Given the description of an element on the screen output the (x, y) to click on. 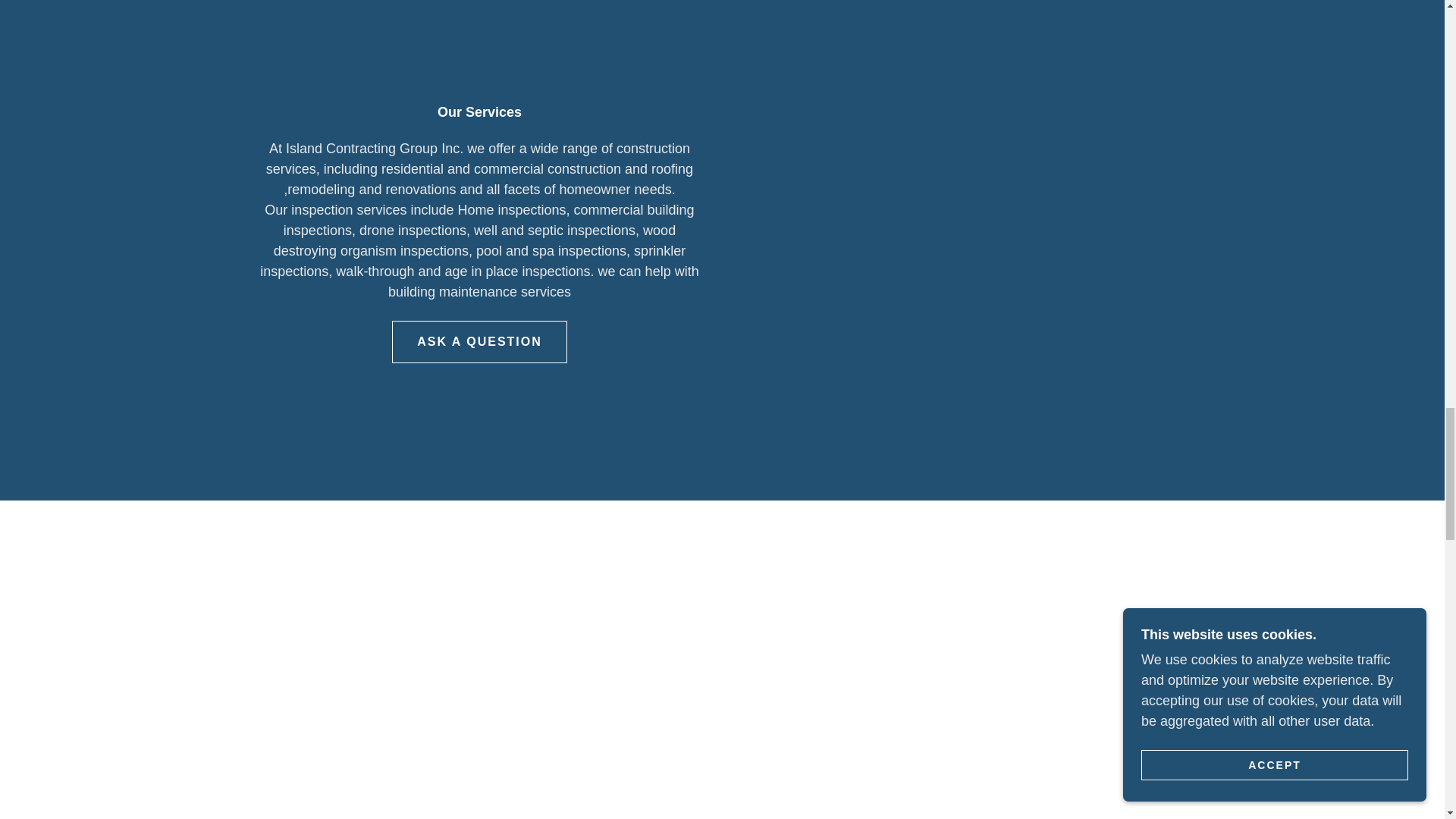
ASK A QUESTION (479, 342)
